Given the description of an element on the screen output the (x, y) to click on. 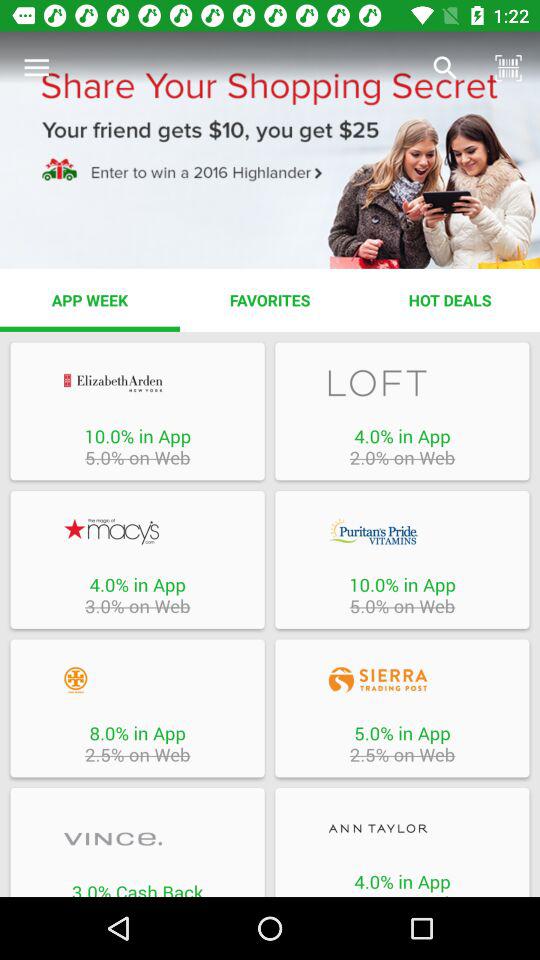
select vendor (137, 679)
